Given the description of an element on the screen output the (x, y) to click on. 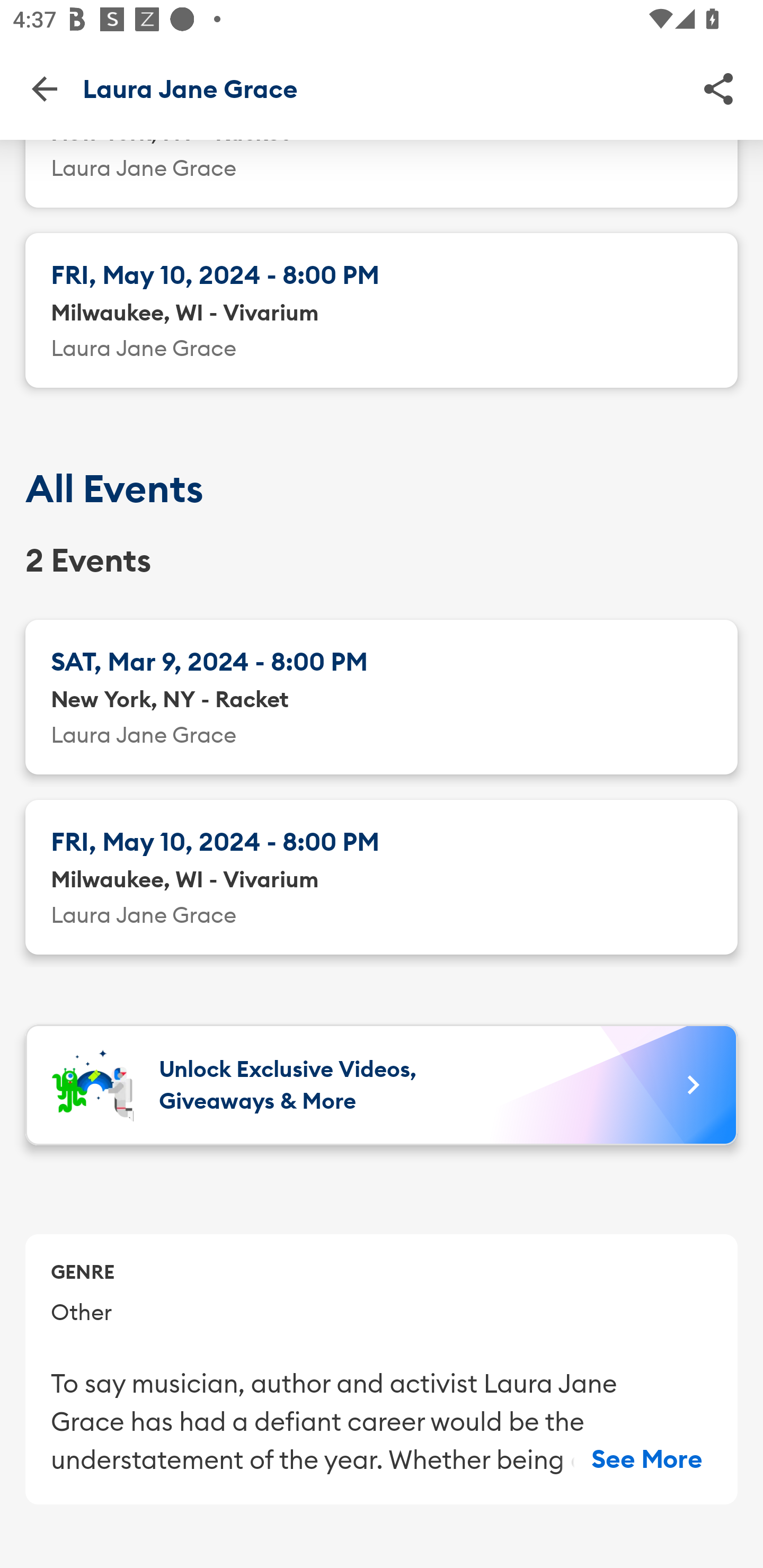
BackButton (44, 88)
Share (718, 88)
Unlock Exclusive Videos,
Giveaways & More (381, 1083)
See More (646, 1458)
